Given the description of an element on the screen output the (x, y) to click on. 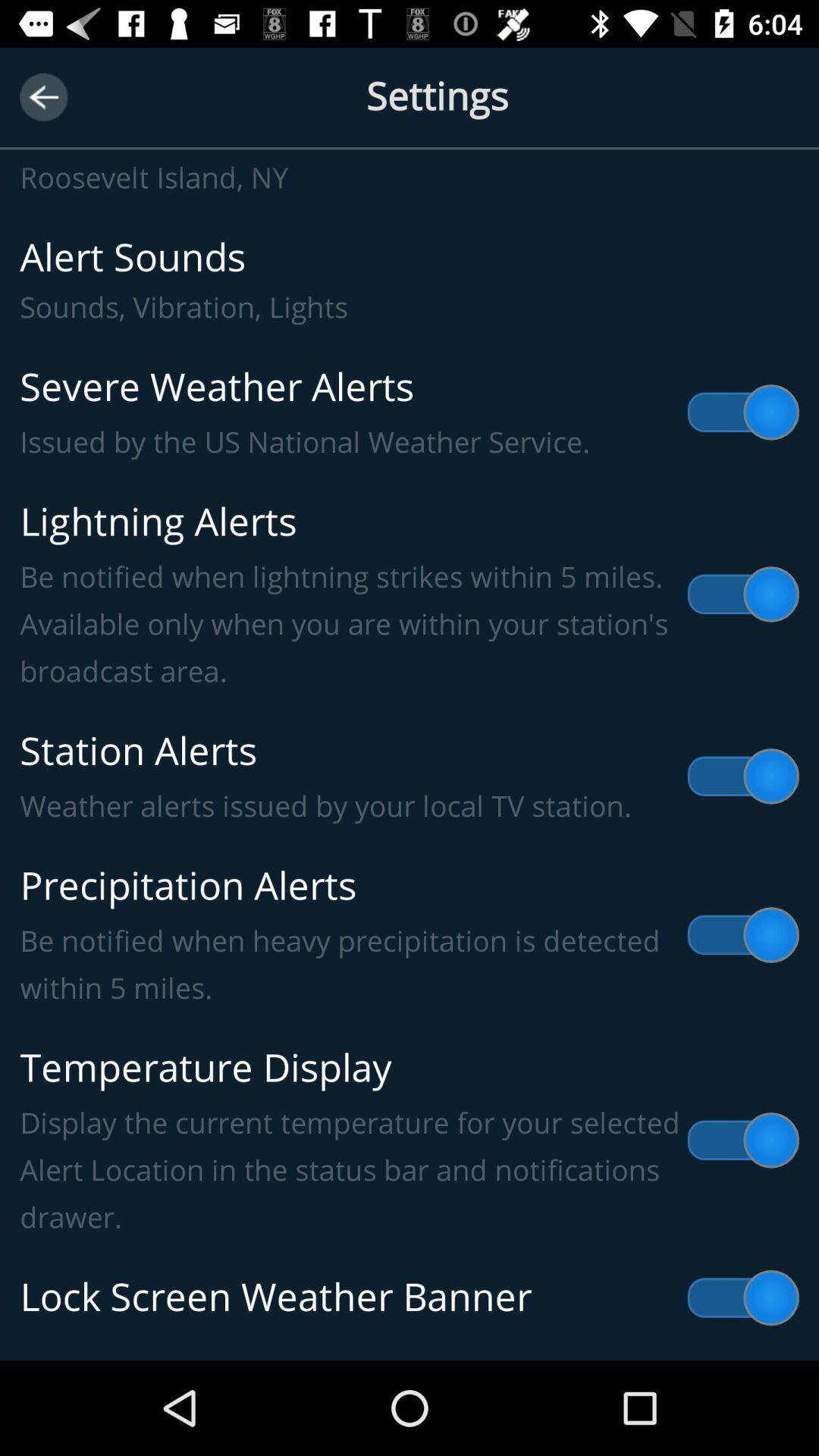
choose alert sounds sounds (409, 280)
